Given the description of an element on the screen output the (x, y) to click on. 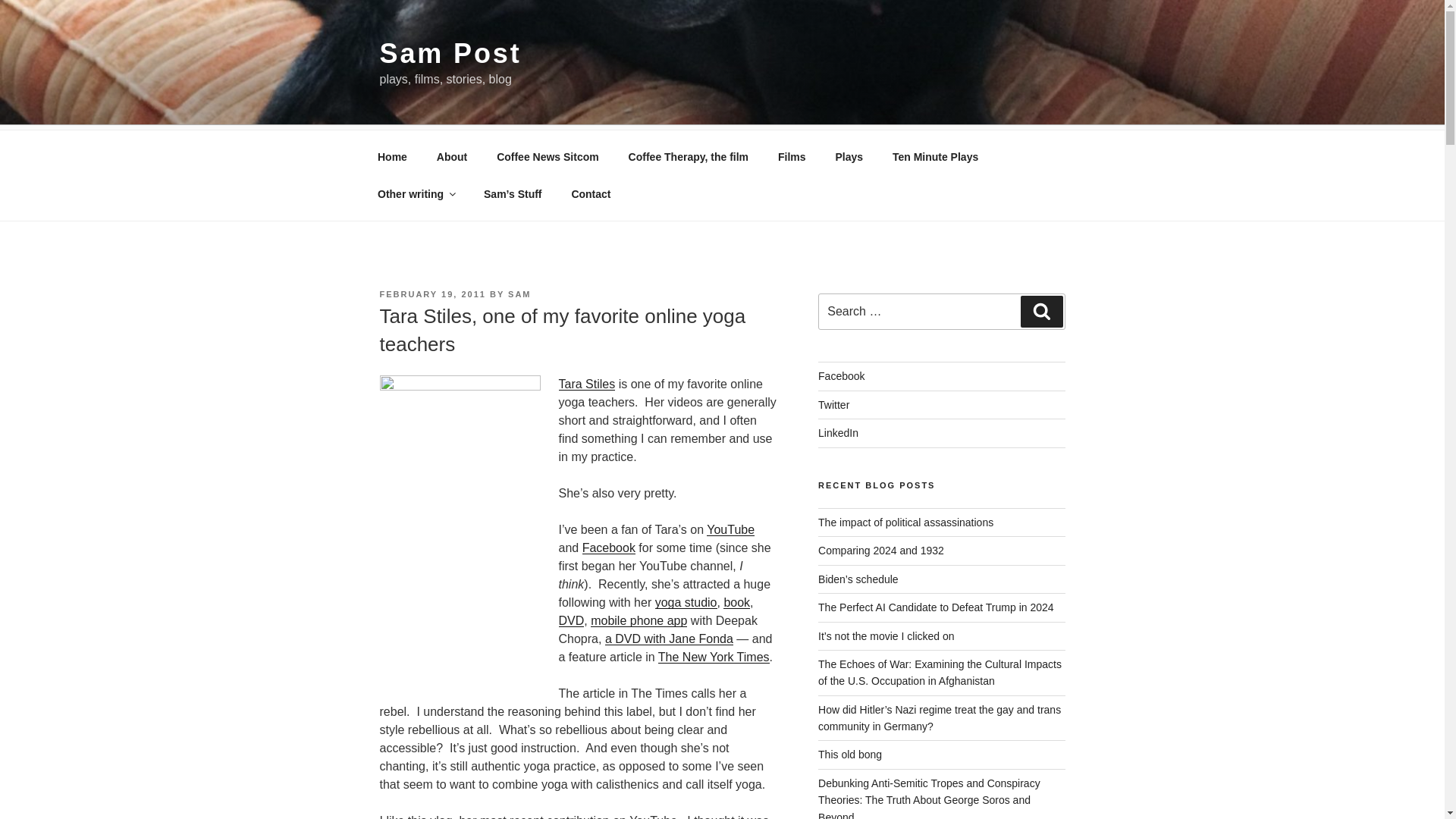
Other writing (415, 194)
Coffee Therapy, the film (687, 156)
LinkedIn (838, 432)
Facebook (608, 547)
Contact (590, 194)
a DVD with Jane Fonda (669, 638)
Films (791, 156)
DVD (570, 620)
Home (392, 156)
Plays (849, 156)
Search (1041, 311)
Coffee News Sitcom (547, 156)
About (451, 156)
Facebook (841, 376)
The New York Times (714, 656)
